Given the description of an element on the screen output the (x, y) to click on. 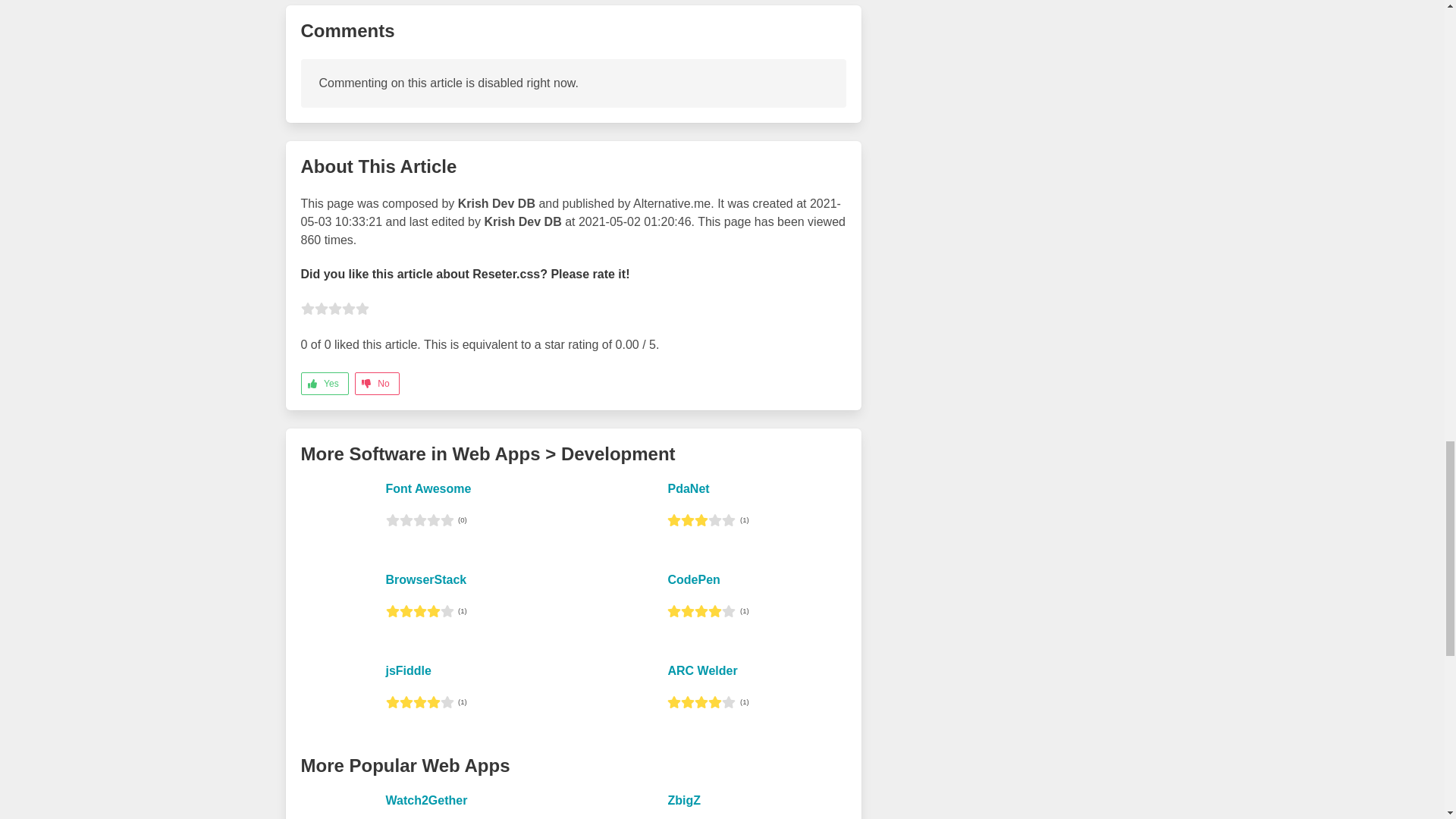
ZbigZ (683, 799)
Font Awesome (427, 488)
BrowserStack (425, 579)
jsFiddle (407, 670)
PdaNet (687, 488)
CodePen (692, 579)
Watch2Gether (426, 799)
ARC Welder (701, 670)
